Given the description of an element on the screen output the (x, y) to click on. 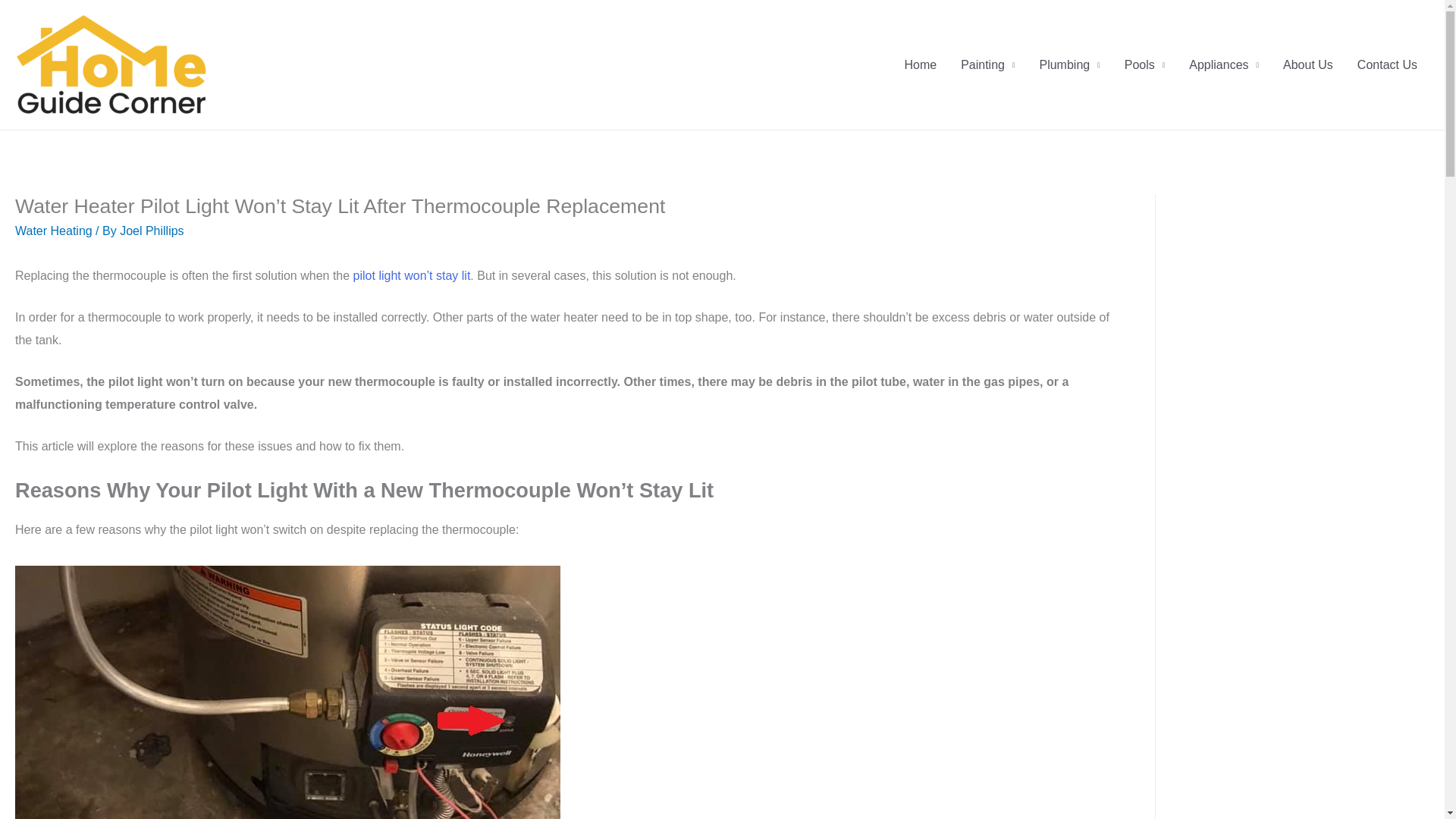
Joel Phillips (151, 230)
View all posts by Joel Phillips (151, 230)
Water Heating (53, 230)
